Given the description of an element on the screen output the (x, y) to click on. 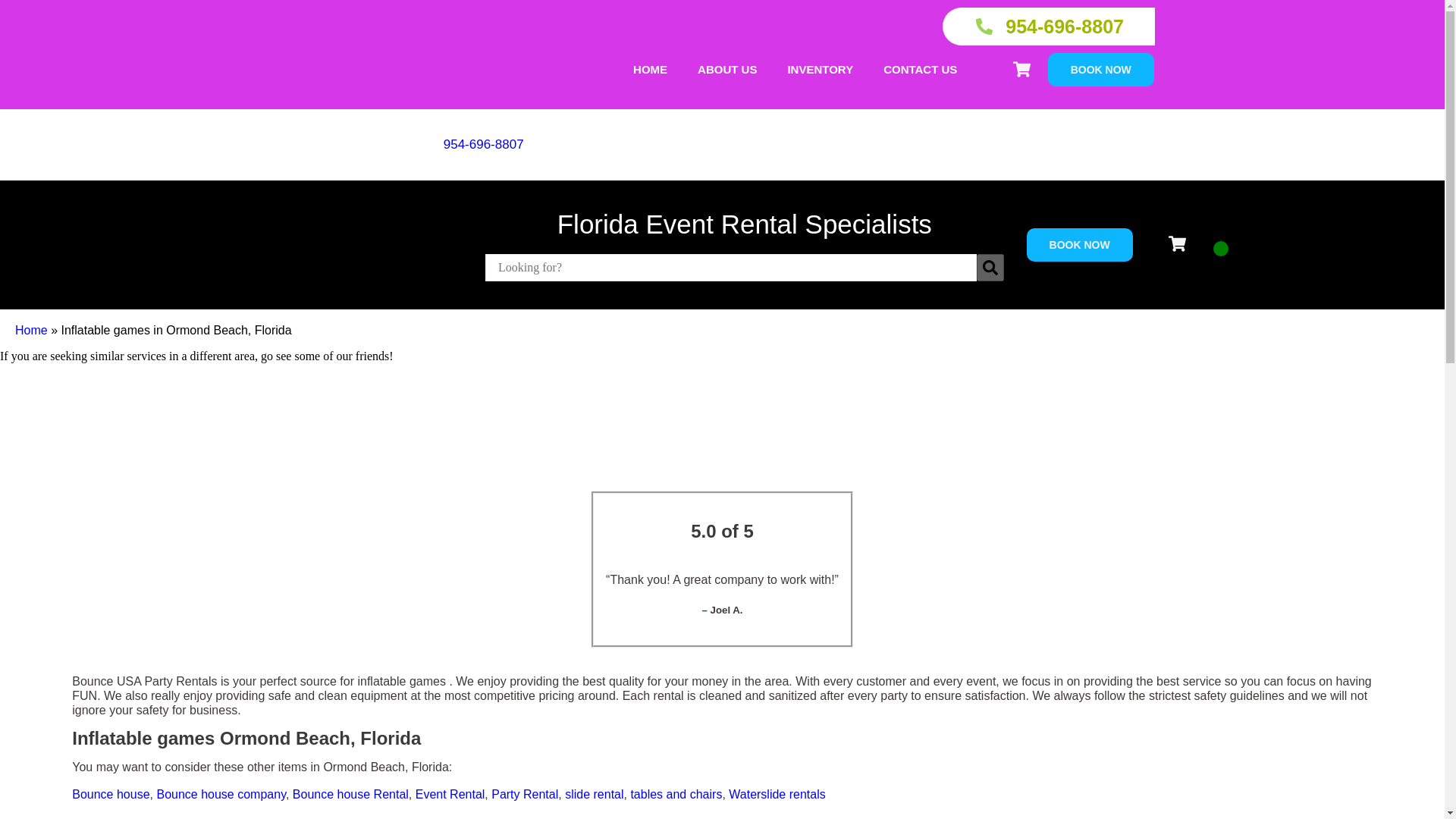
Home (31, 329)
tables and chairs (676, 793)
Bounce house Rental (350, 793)
Party Rental (524, 793)
954-696-8807 (484, 144)
Waterslide rentals (777, 793)
BOOK NOW (1079, 244)
ABOUT US (726, 69)
954-696-8807 (1049, 26)
HOME (649, 69)
